Given the description of an element on the screen output the (x, y) to click on. 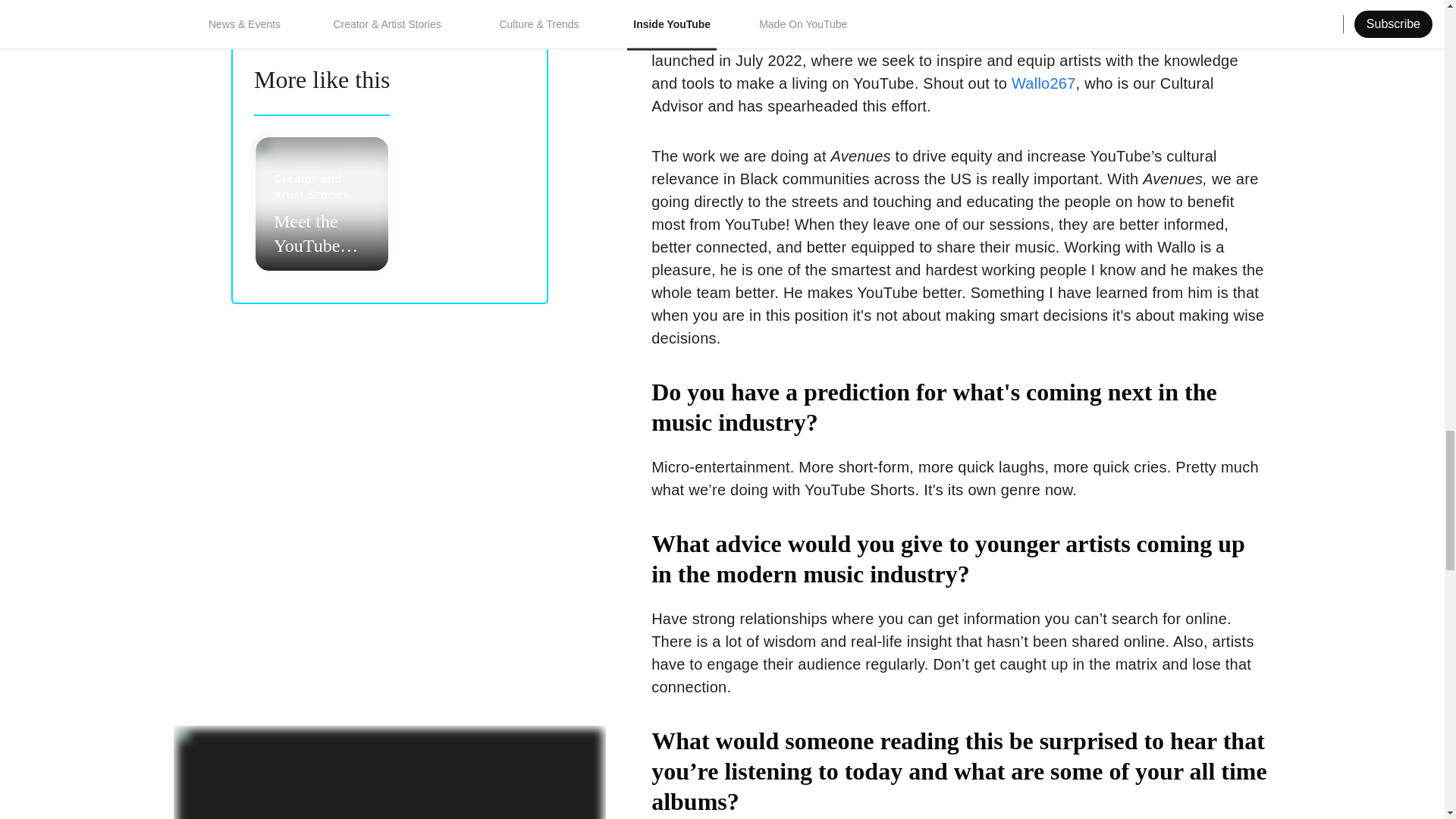
Wallo267 (1043, 83)
Meet the YouTube Black Voices Fund music class of 2023 (321, 95)
